Given the description of an element on the screen output the (x, y) to click on. 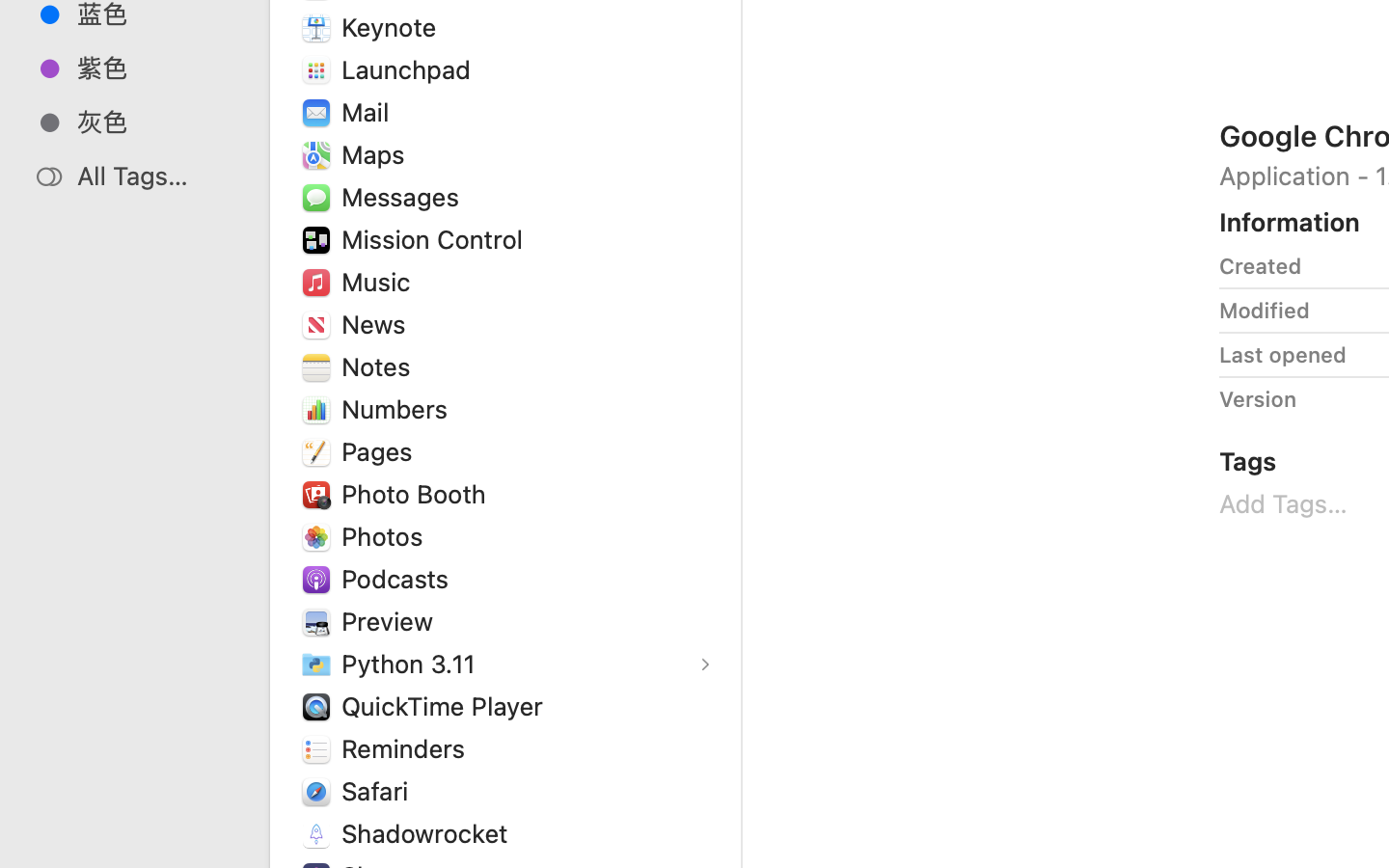
Podcasts Element type: AXTextField (399, 578)
Version Element type: AXStaticText (1257, 398)
